Given the description of an element on the screen output the (x, y) to click on. 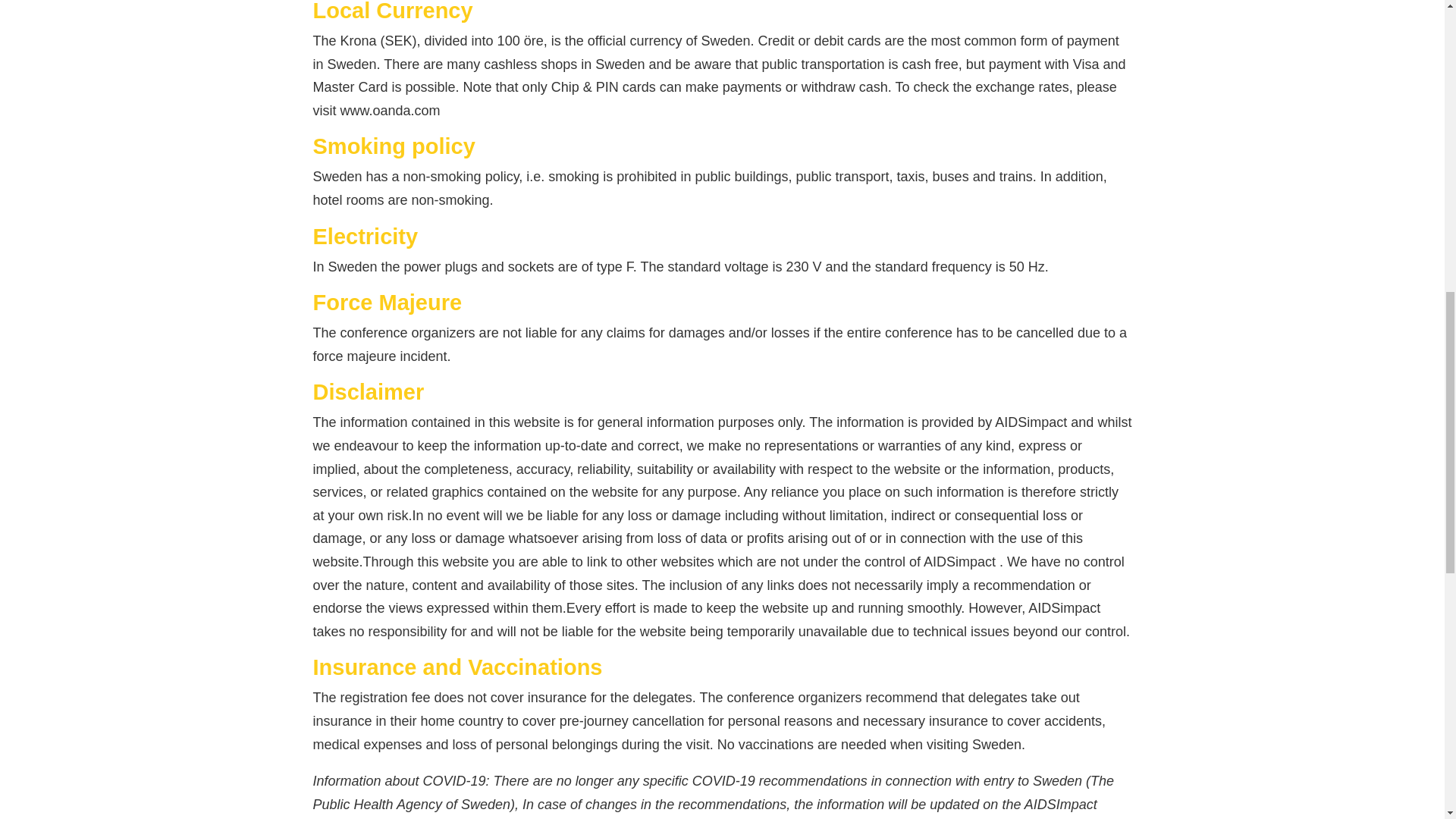
www.oanda.com (389, 110)
